Given the description of an element on the screen output the (x, y) to click on. 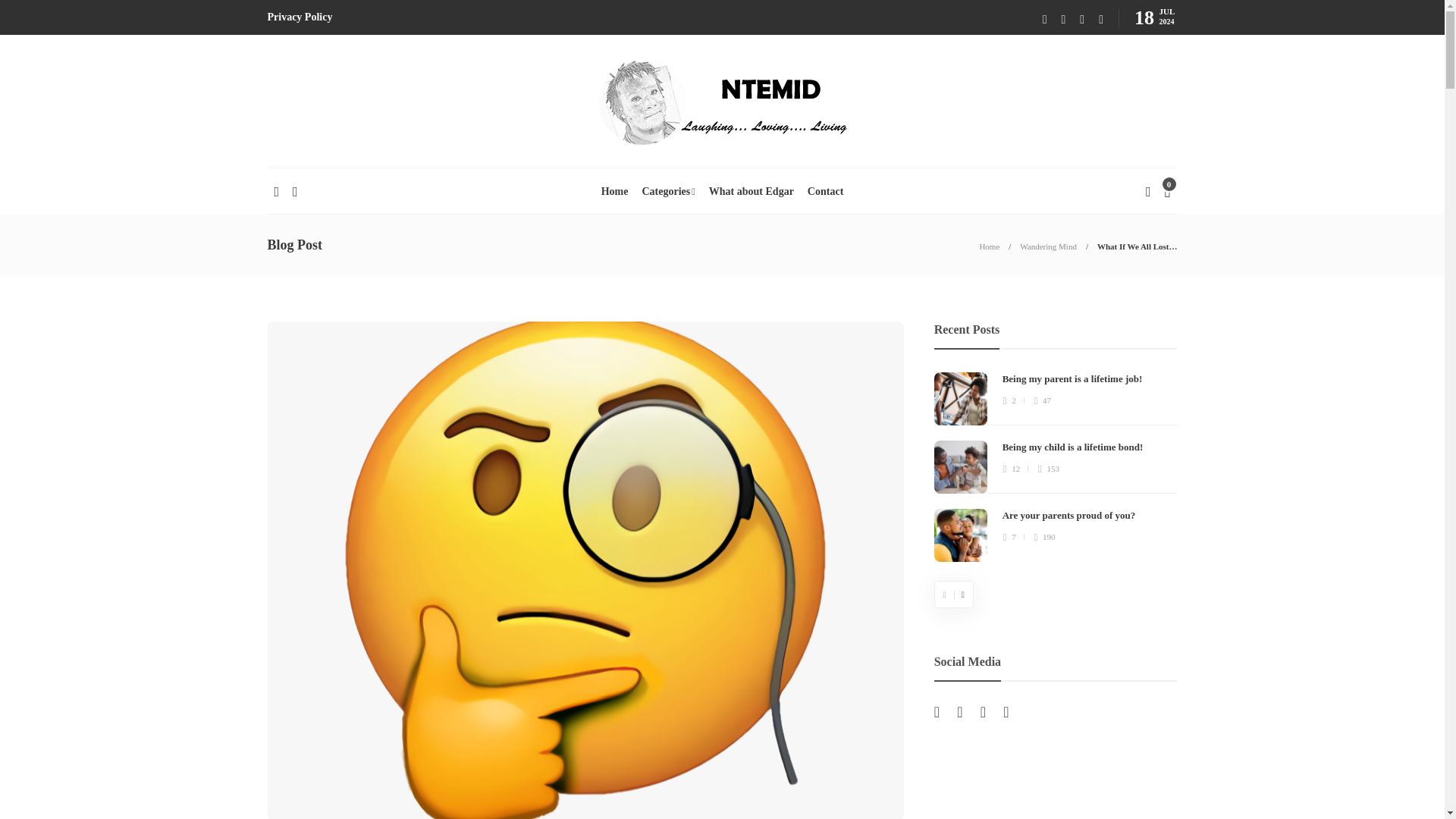
Home (988, 245)
